Given the description of an element on the screen output the (x, y) to click on. 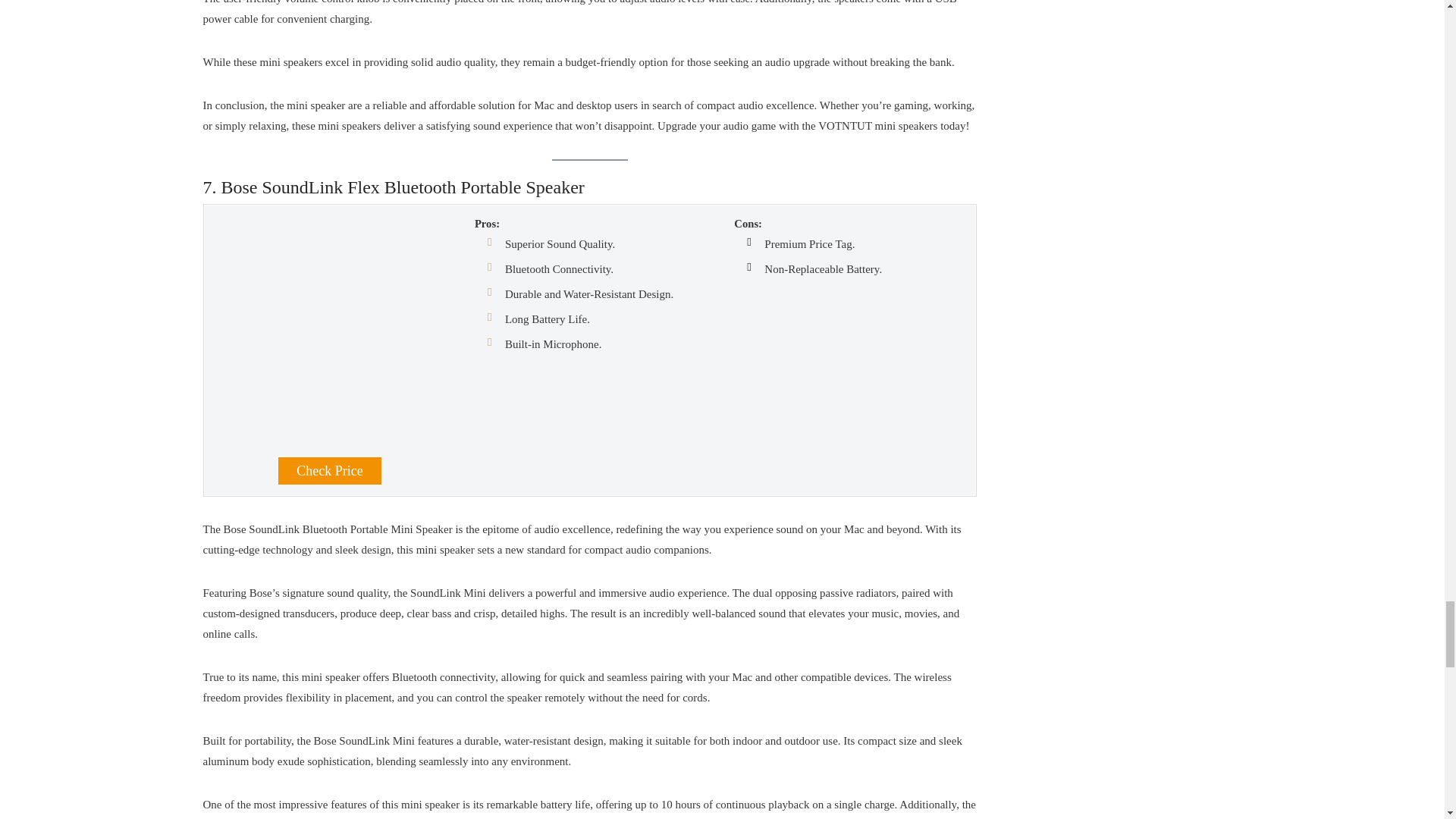
Check Amazon Price (329, 470)
